Given the description of an element on the screen output the (x, y) to click on. 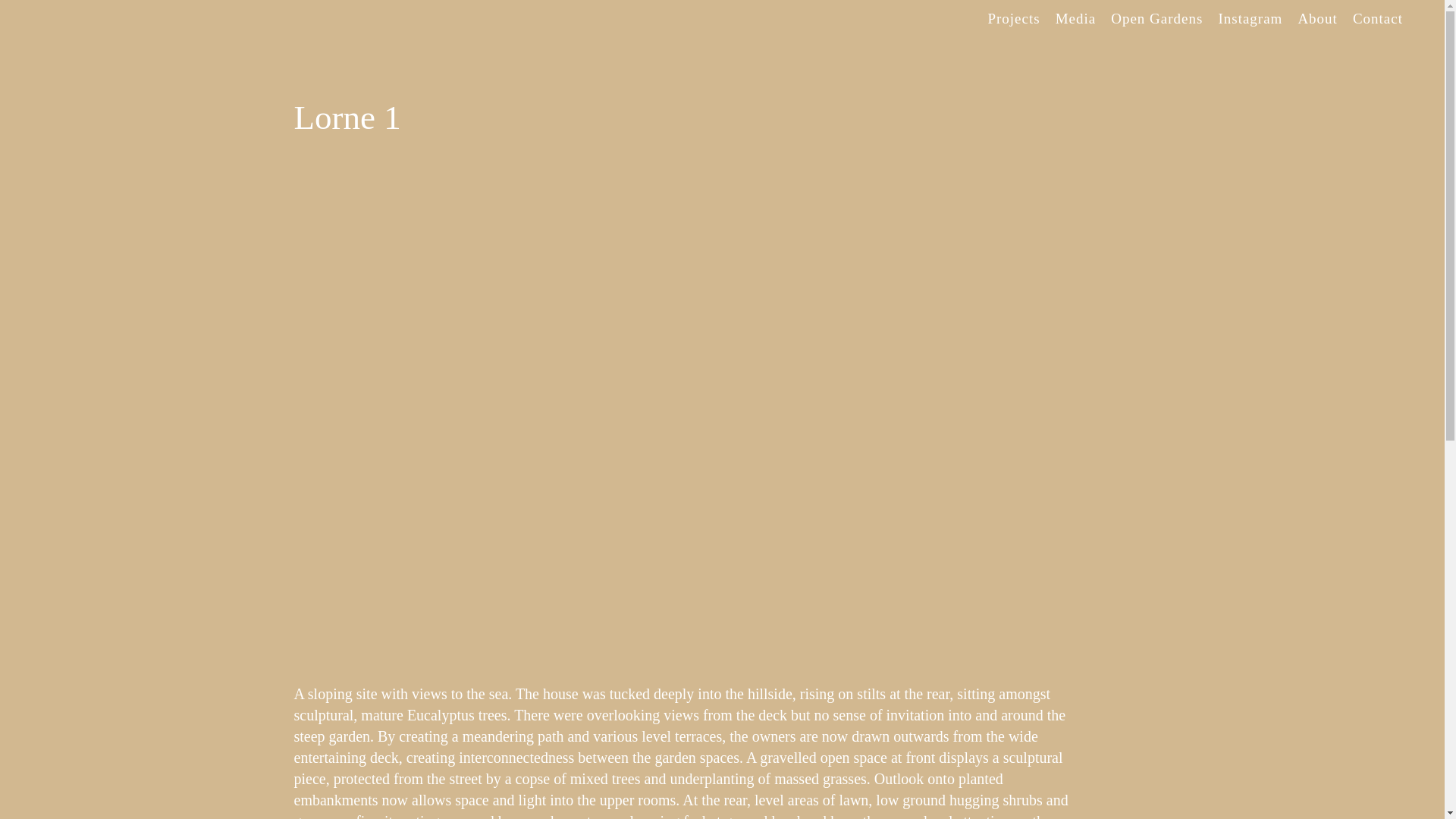
About Element type: text (1317, 18)
Projects Element type: text (1013, 18)
Media Element type: text (1076, 18)
Open Gardens Element type: text (1156, 18)
Contact Element type: text (1377, 18)
Instagram Element type: text (1249, 18)
